Given the description of an element on the screen output the (x, y) to click on. 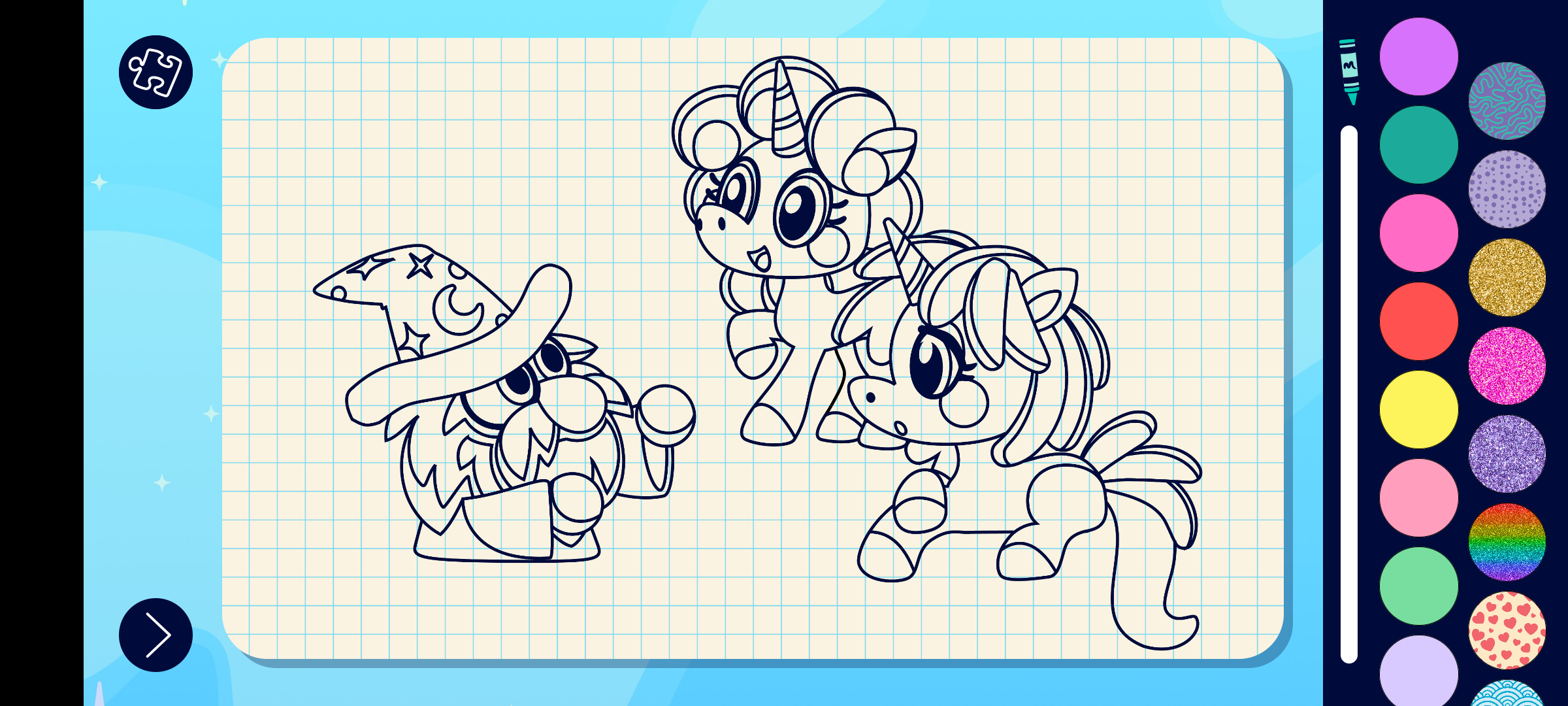
coloring background (1507, 101)
coloring background (1507, 189)
coloring background (1507, 277)
coloring background (1507, 365)
coloring background (1507, 454)
coloring background (1507, 542)
coloring background (1507, 630)
